Given the description of an element on the screen output the (x, y) to click on. 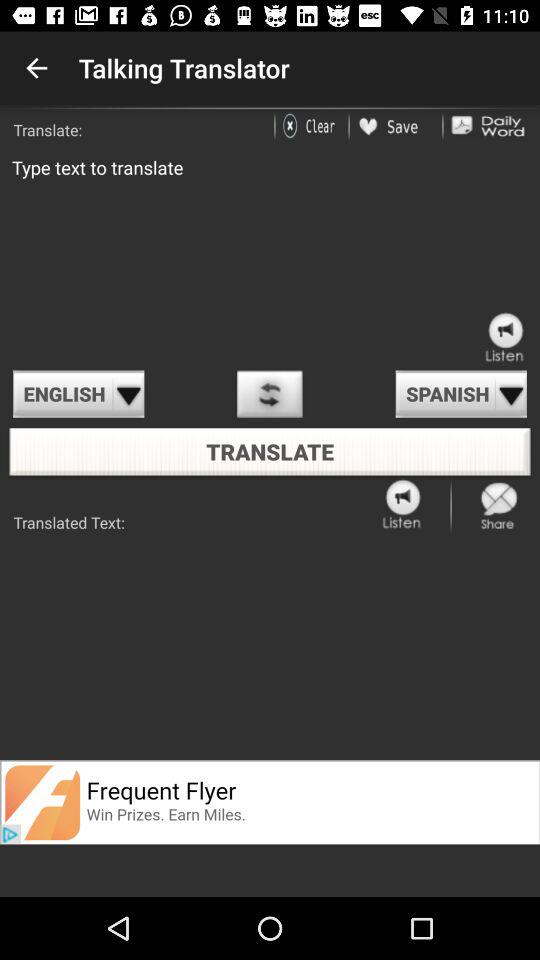
click on share to share and start speakiing (499, 505)
